Given the description of an element on the screen output the (x, y) to click on. 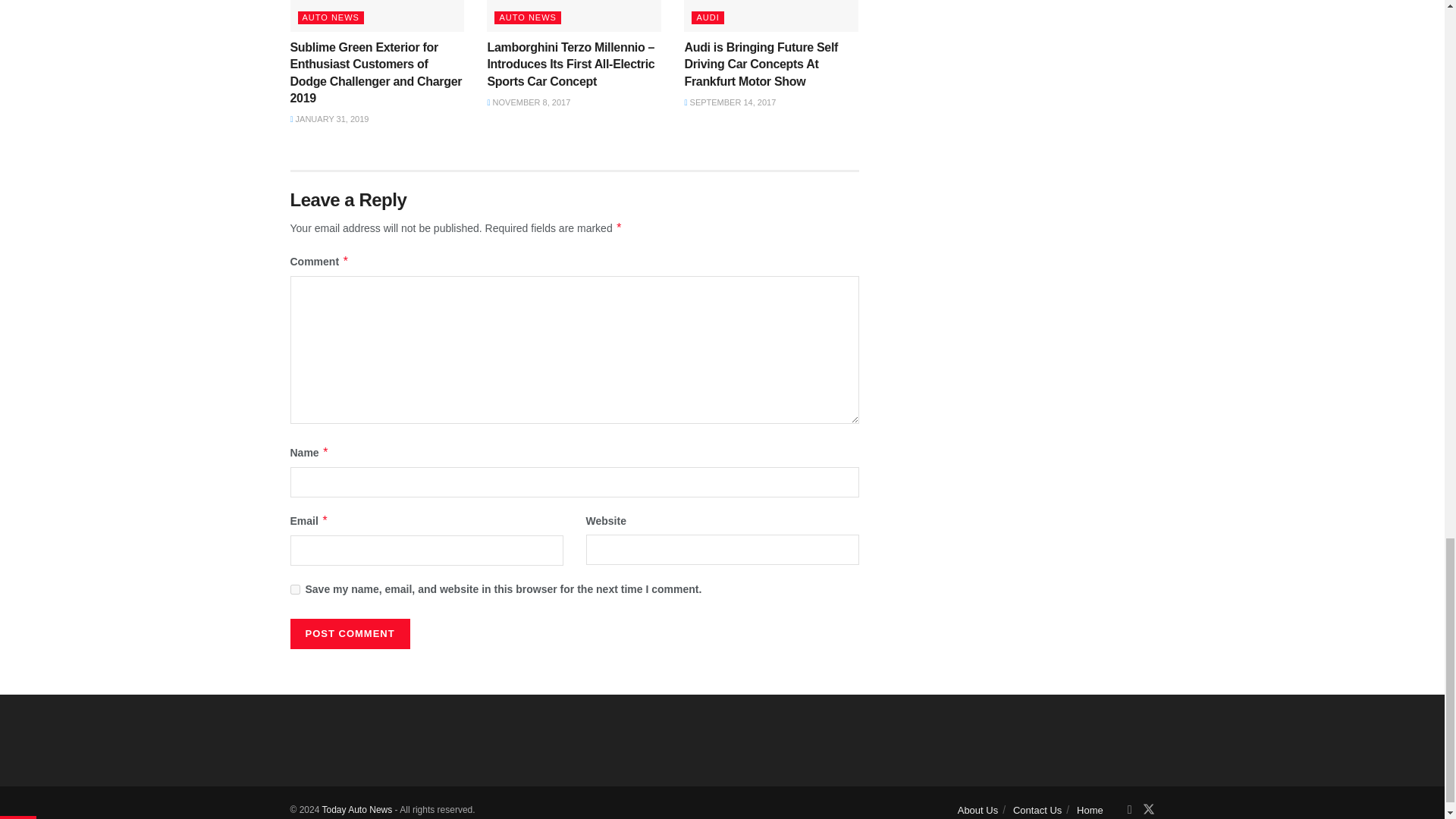
Post Comment (349, 634)
yes (294, 589)
Today Auto News (356, 809)
